Given the description of an element on the screen output the (x, y) to click on. 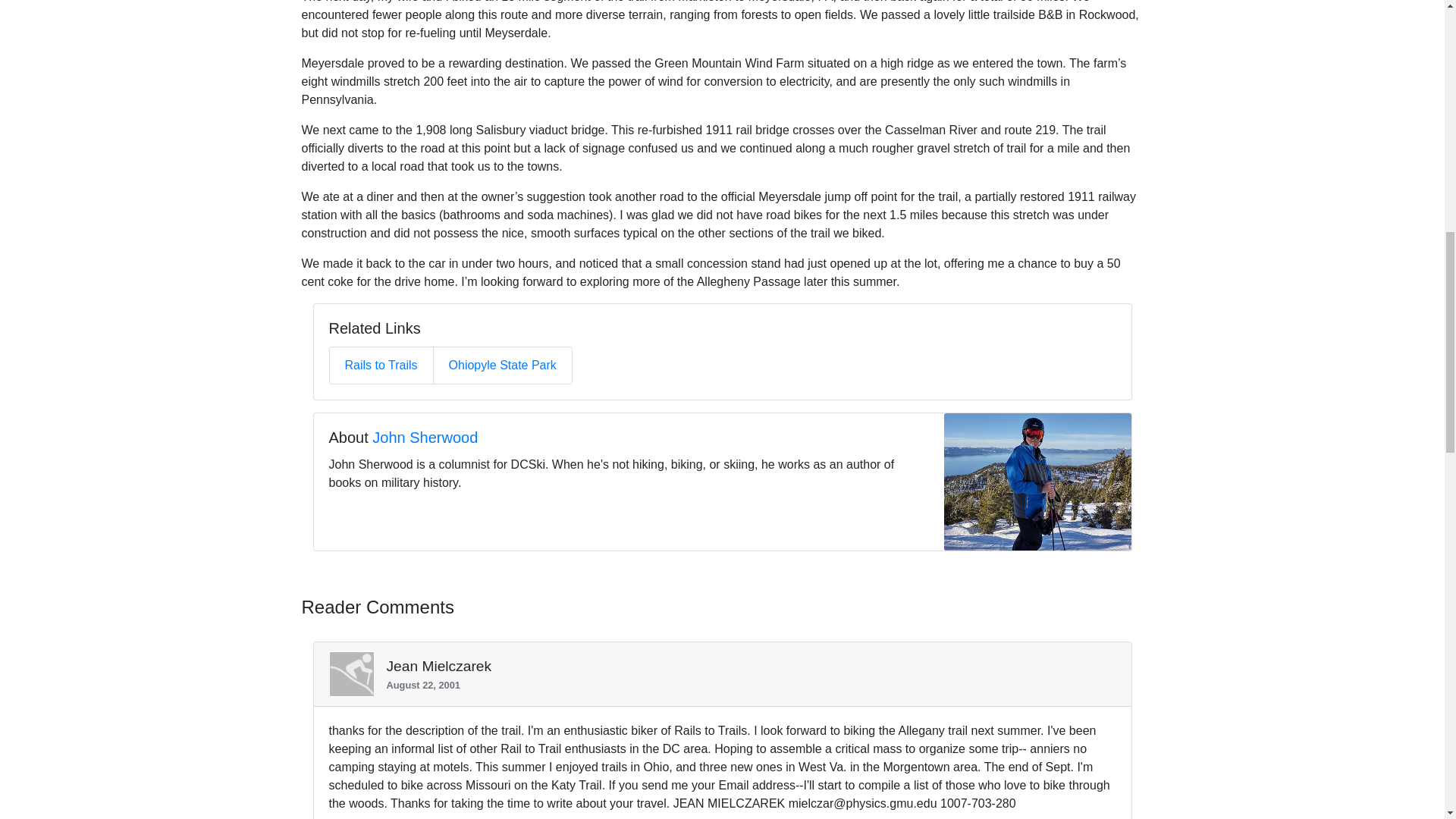
August 22, 2001 at 11:11 am (745, 685)
Rails to Trails (379, 364)
Ohiopyle State Park (502, 364)
John Sherwood (424, 437)
